Given the description of an element on the screen output the (x, y) to click on. 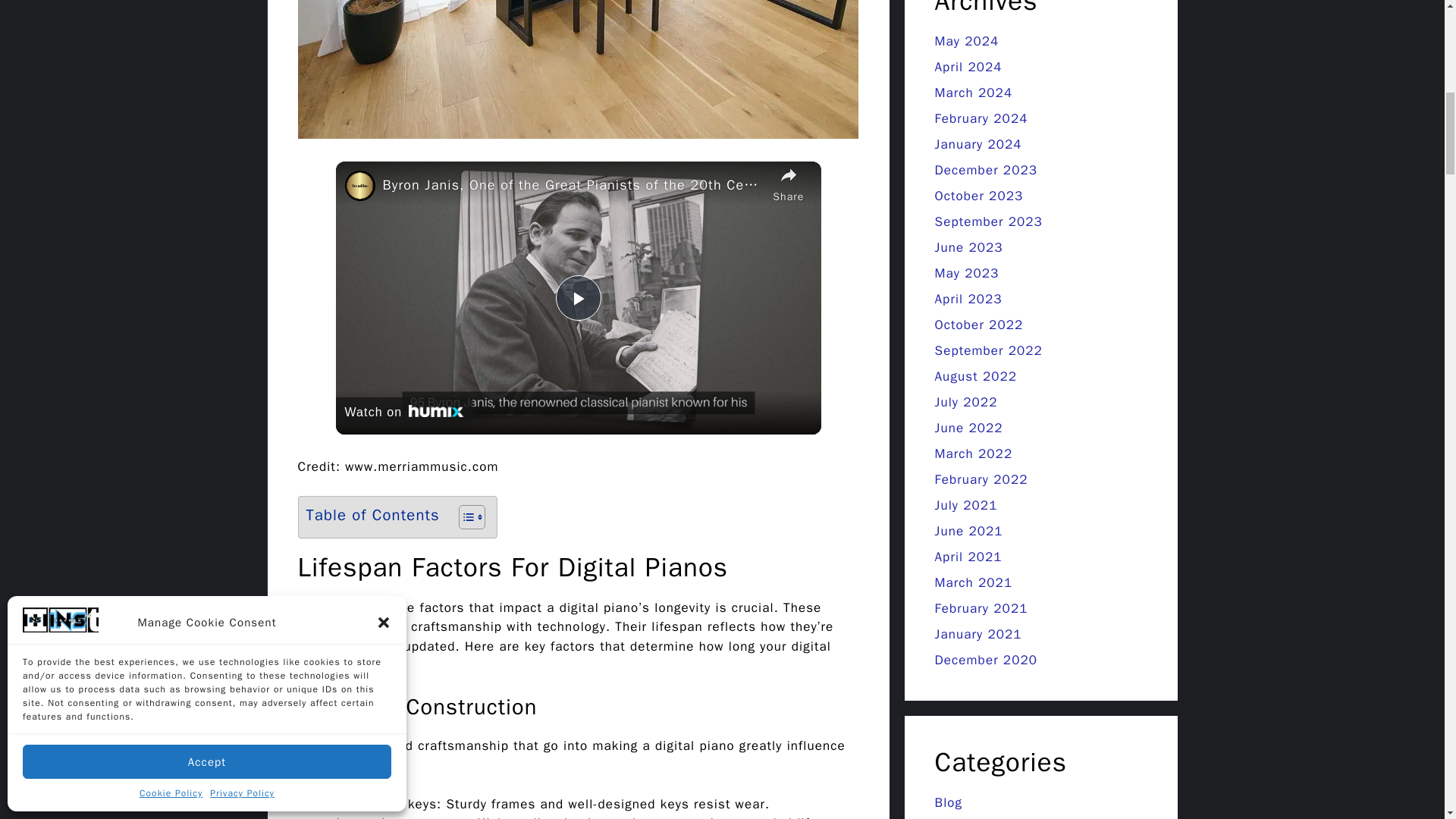
Play Video (576, 298)
Play Video (576, 298)
